Given the description of an element on the screen output the (x, y) to click on. 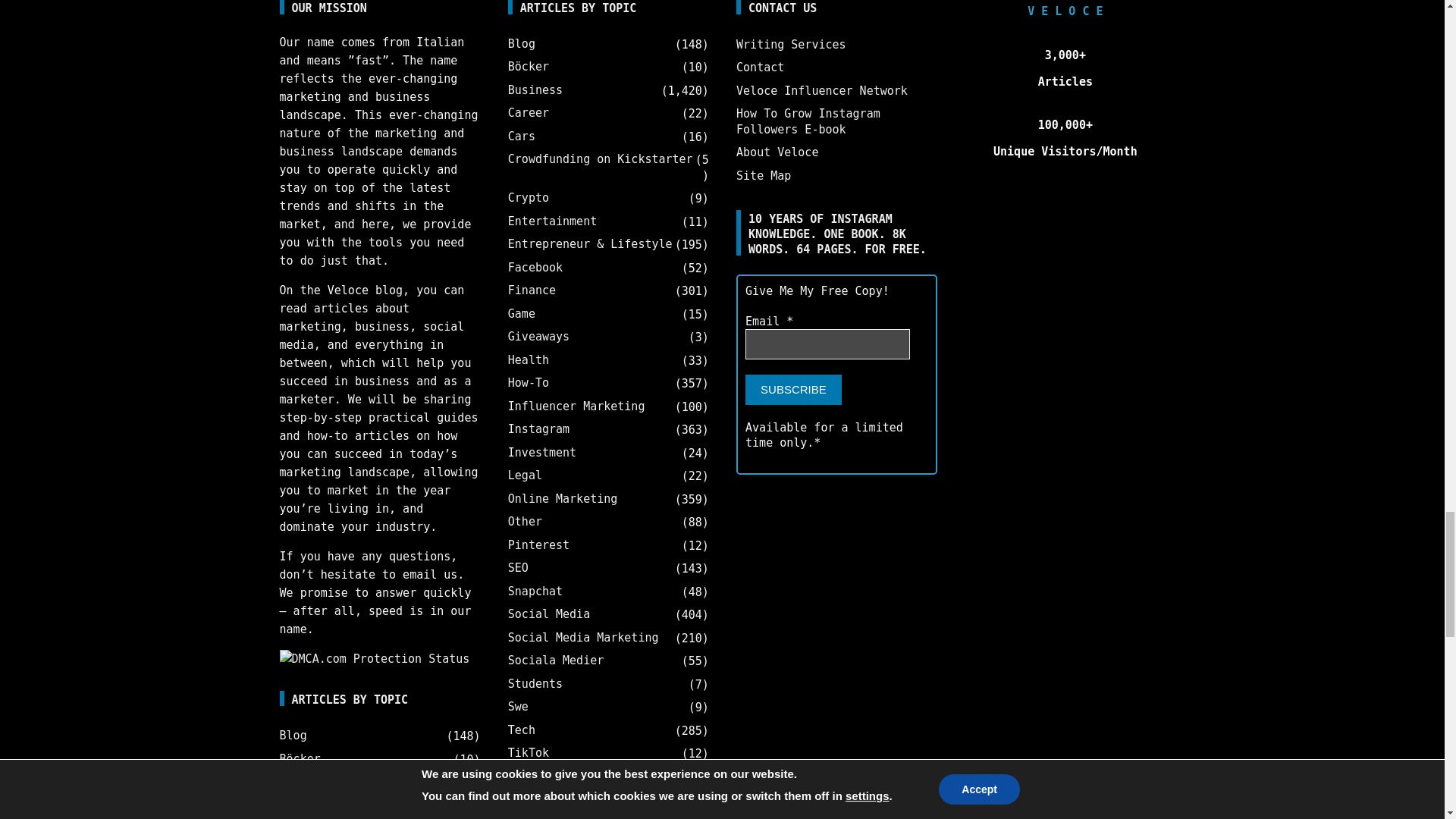
Business (306, 782)
SUBSCRIBE (793, 389)
How To Grow Instagram Followers E-book (808, 121)
Blog (293, 735)
DMCA.com Protection Status (374, 658)
